Given the description of an element on the screen output the (x, y) to click on. 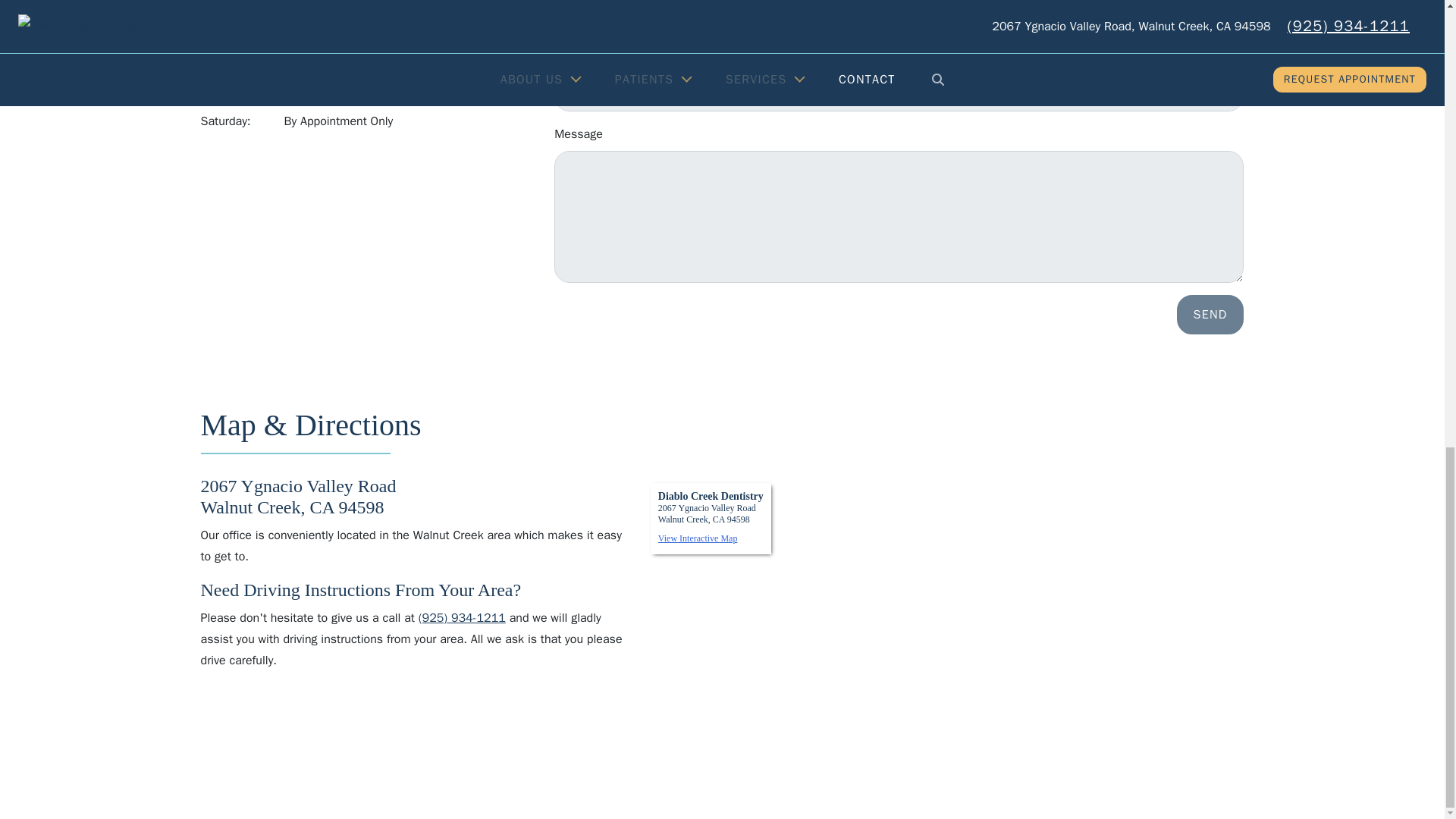
Contact Us Submit (1210, 314)
